Given the description of an element on the screen output the (x, y) to click on. 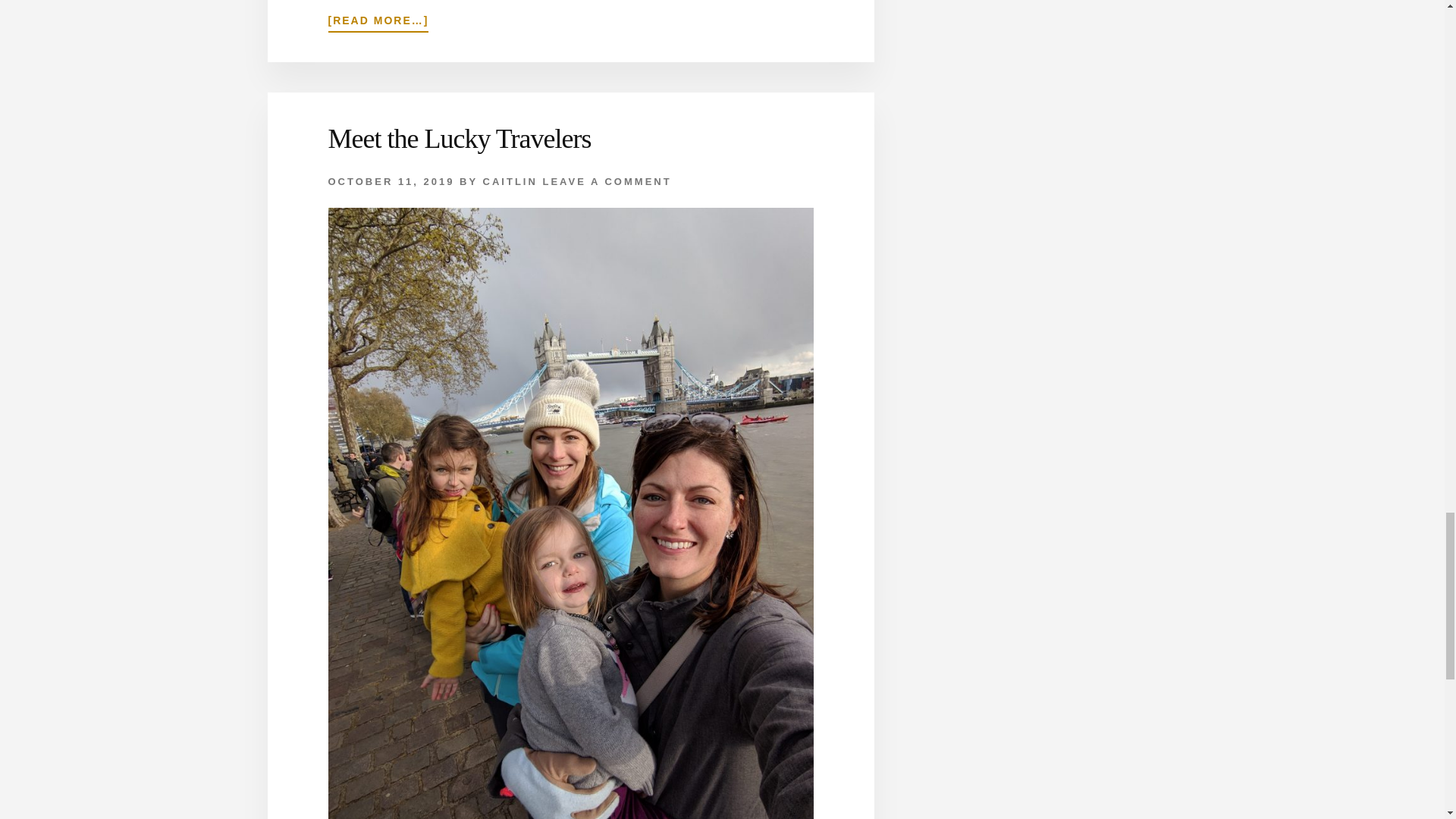
LEAVE A COMMENT (606, 181)
CAITLIN (510, 181)
Meet the Lucky Travelers (459, 138)
